Given the description of an element on the screen output the (x, y) to click on. 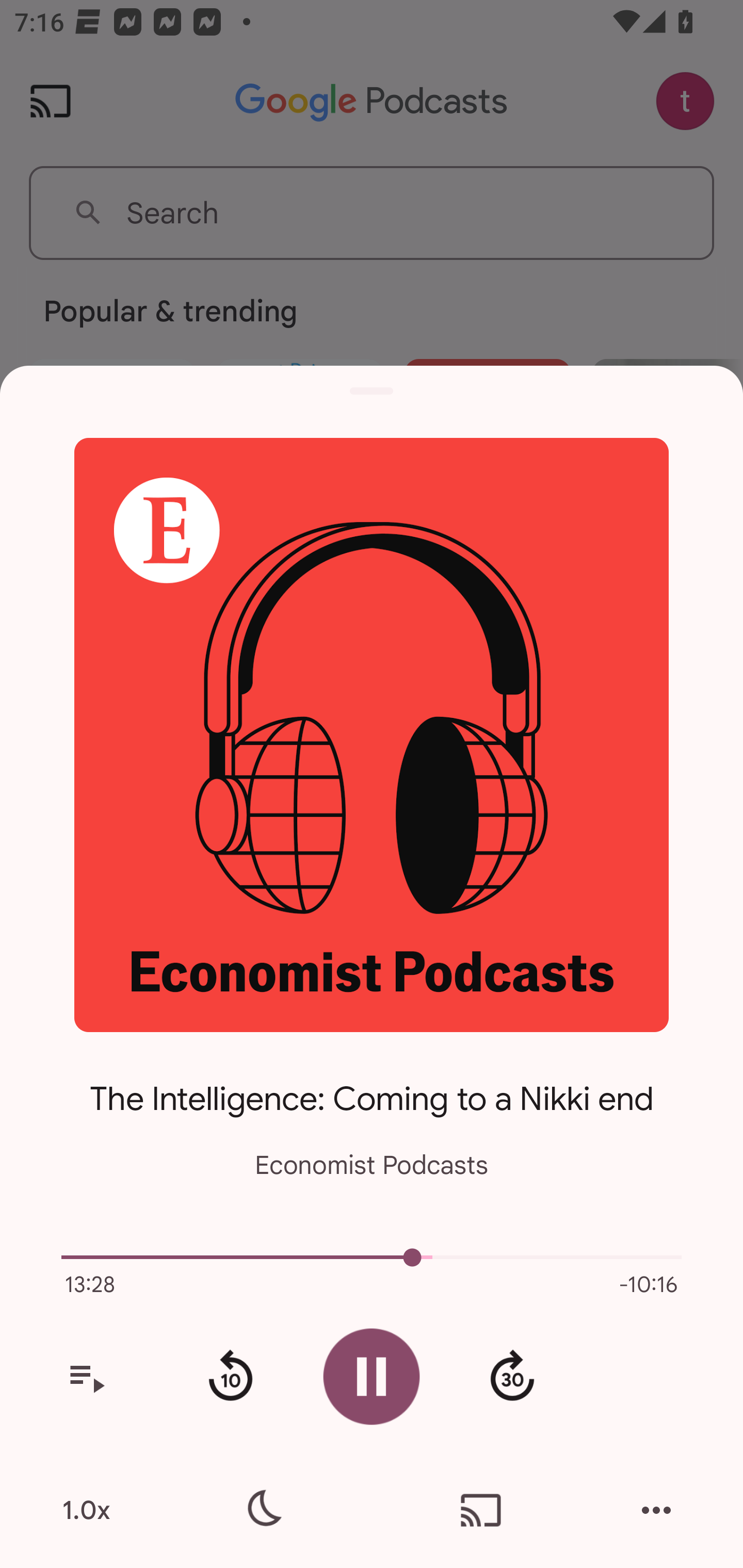
Open the show page for Economist Podcasts (371, 734)
5675.0 Current episode playback (371, 1257)
Pause (371, 1376)
View your queue (86, 1376)
Rewind 10 seconds (230, 1376)
Fast forward 30 second (511, 1376)
1.0x Playback speed is 1.0. (86, 1510)
Sleep timer settings (261, 1510)
Cast. Disconnected (480, 1510)
More actions (655, 1510)
